Given the description of an element on the screen output the (x, y) to click on. 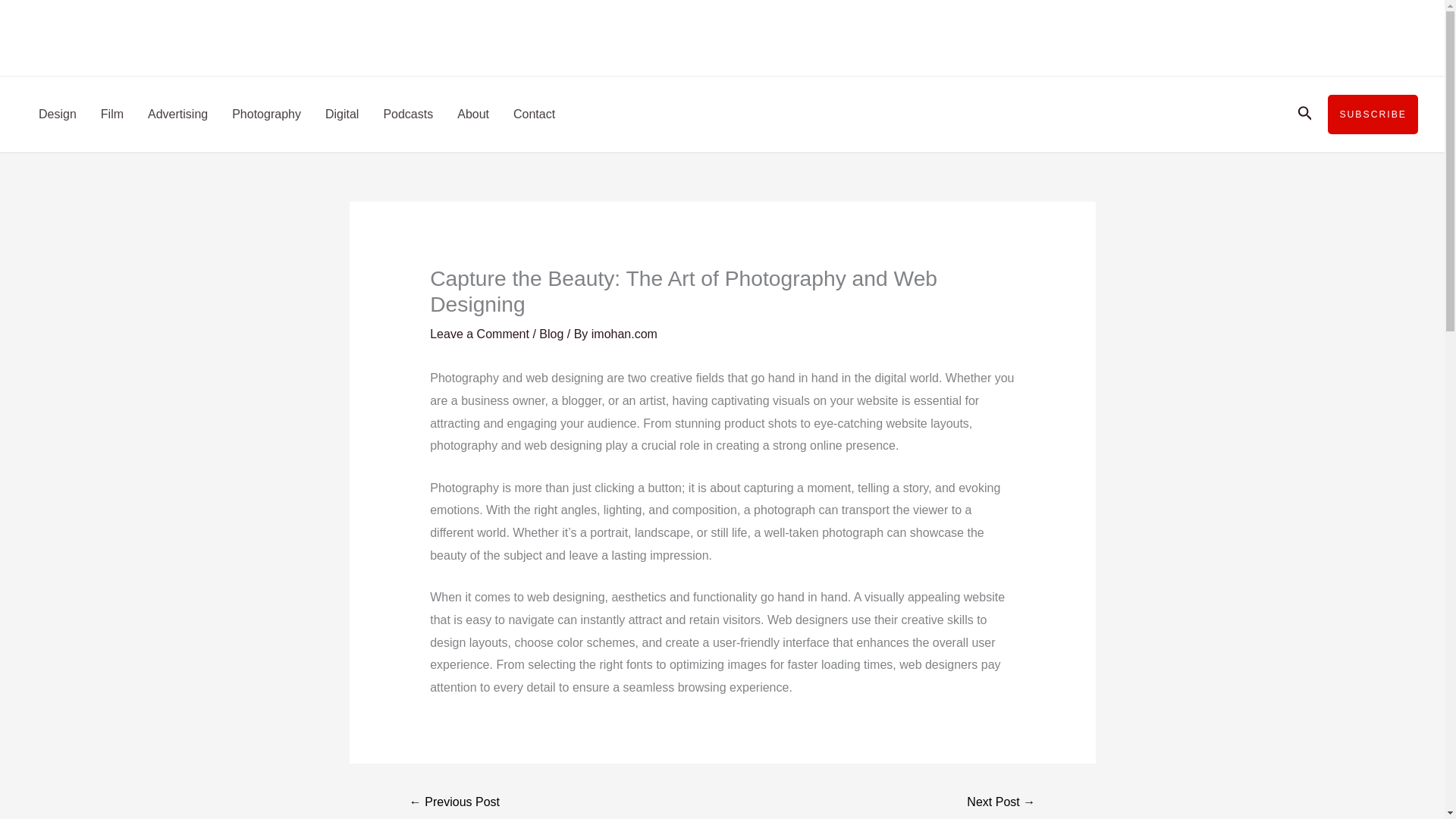
Leave a Comment (479, 333)
Capturing Memories: The Power of Photography (1000, 803)
SUBSCRIBE (1372, 115)
Photography (266, 114)
Advertising (177, 114)
Capturing Moments: The Power of Professional Photography (454, 803)
Blog (550, 333)
View all posts by imohan.com (624, 333)
imohan.com (624, 333)
Podcasts (408, 114)
